Given the description of an element on the screen output the (x, y) to click on. 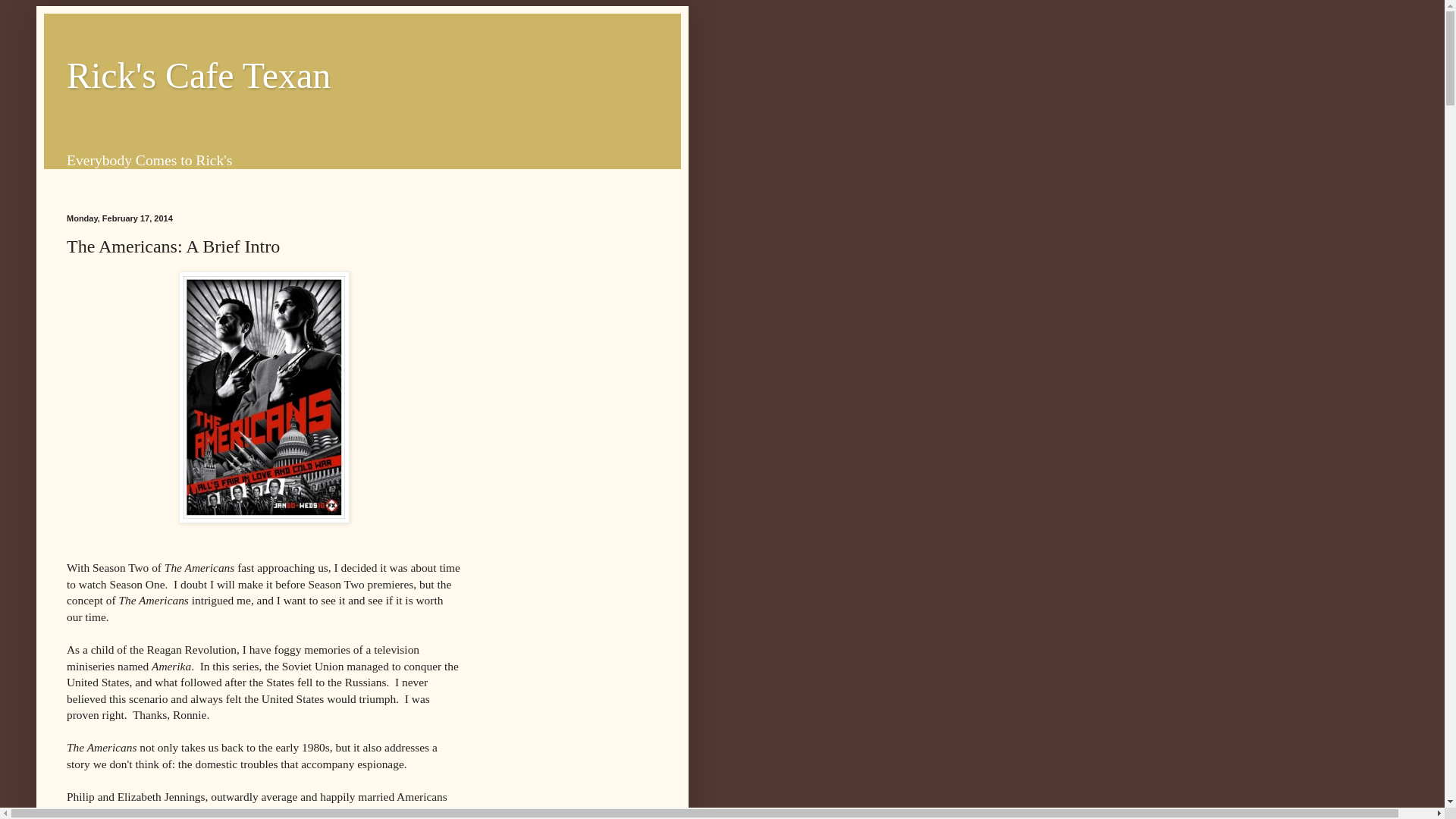
Rick's Cafe Texan (198, 75)
